Given the description of an element on the screen output the (x, y) to click on. 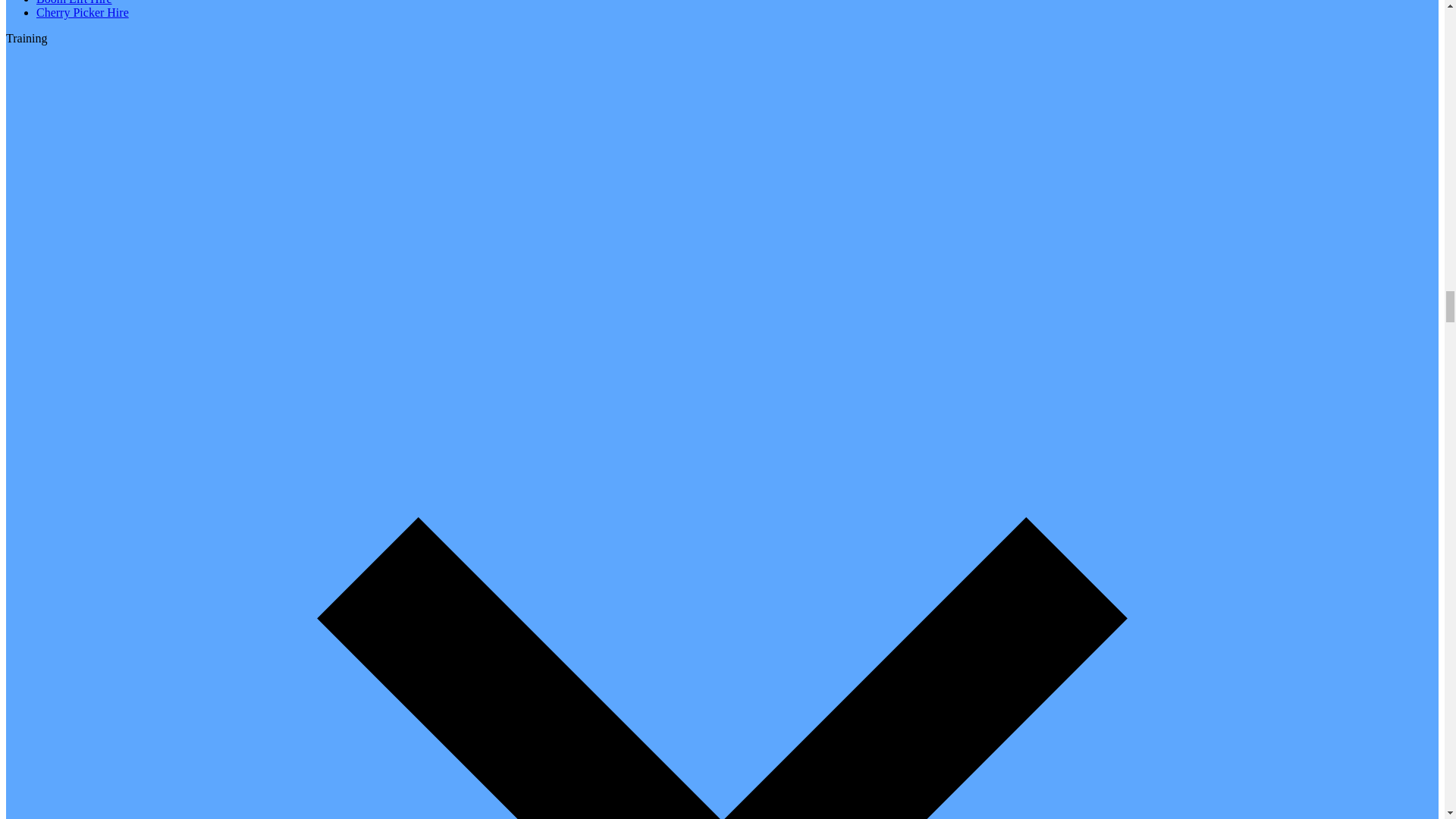
Cherry Picker Hire (82, 11)
Boom Lift Hire (74, 2)
